Given the description of an element on the screen output the (x, y) to click on. 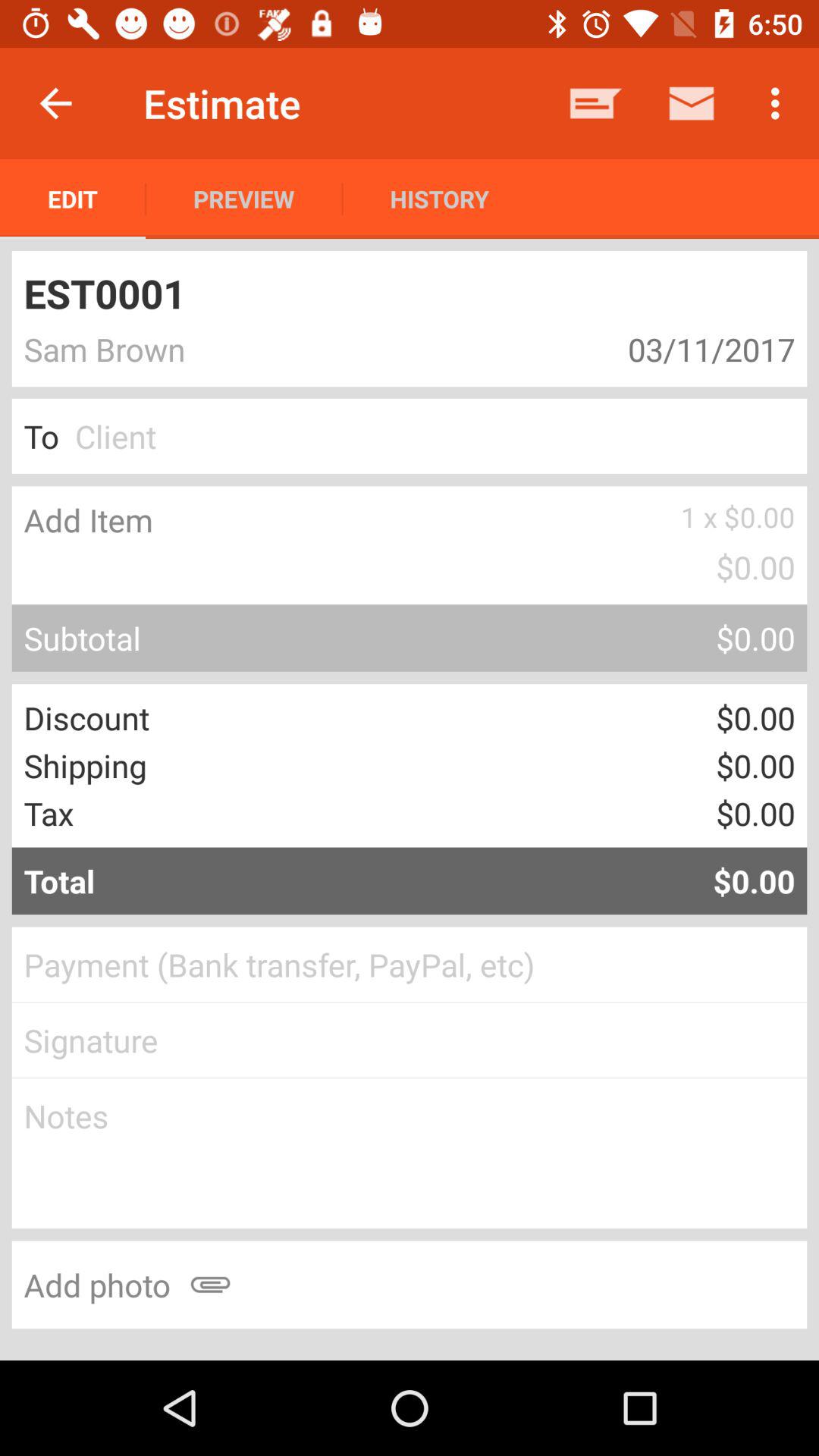
open the preview icon (243, 198)
